Given the description of an element on the screen output the (x, y) to click on. 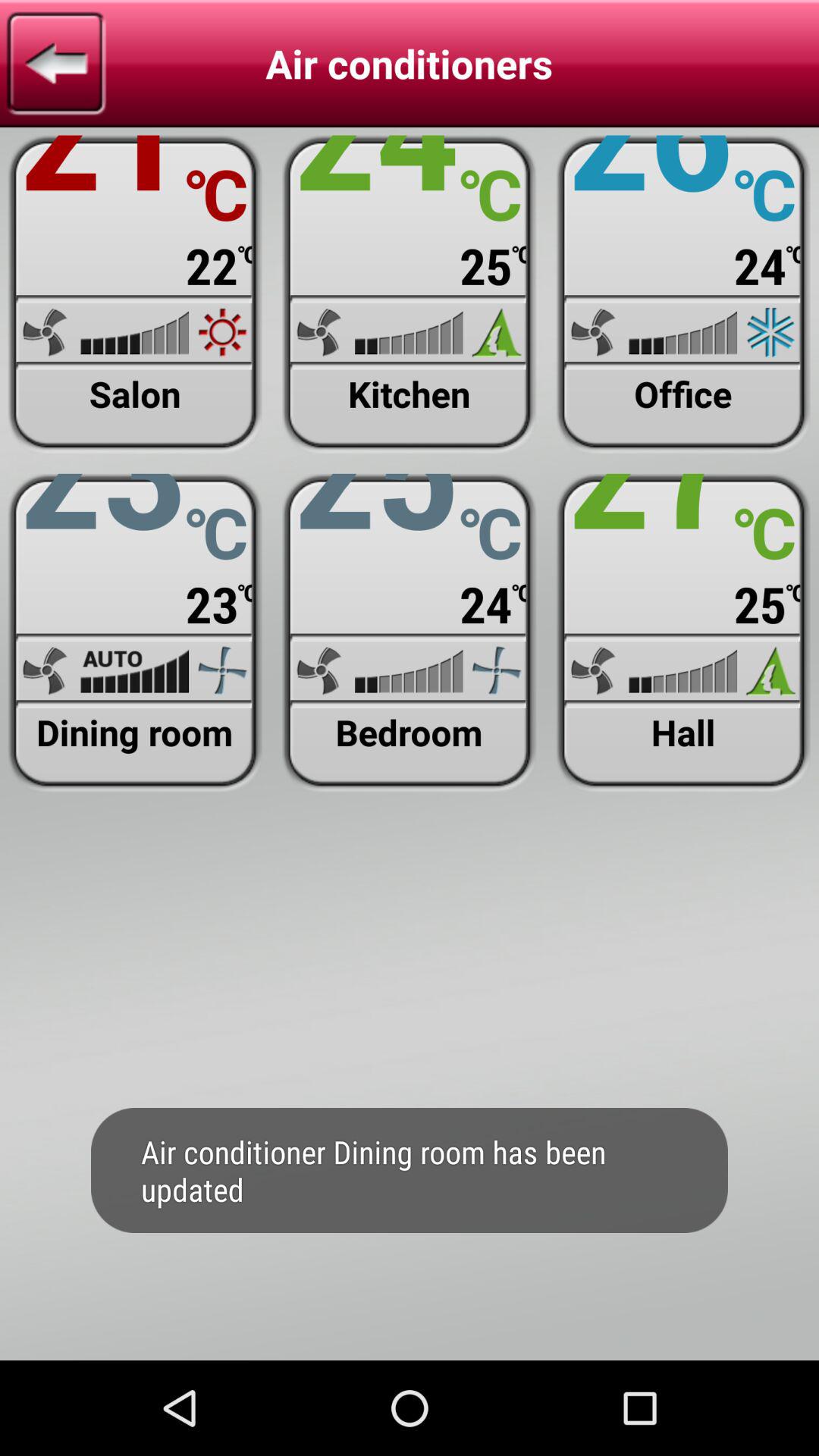
bring up air conditioner (683, 294)
